Given the description of an element on the screen output the (x, y) to click on. 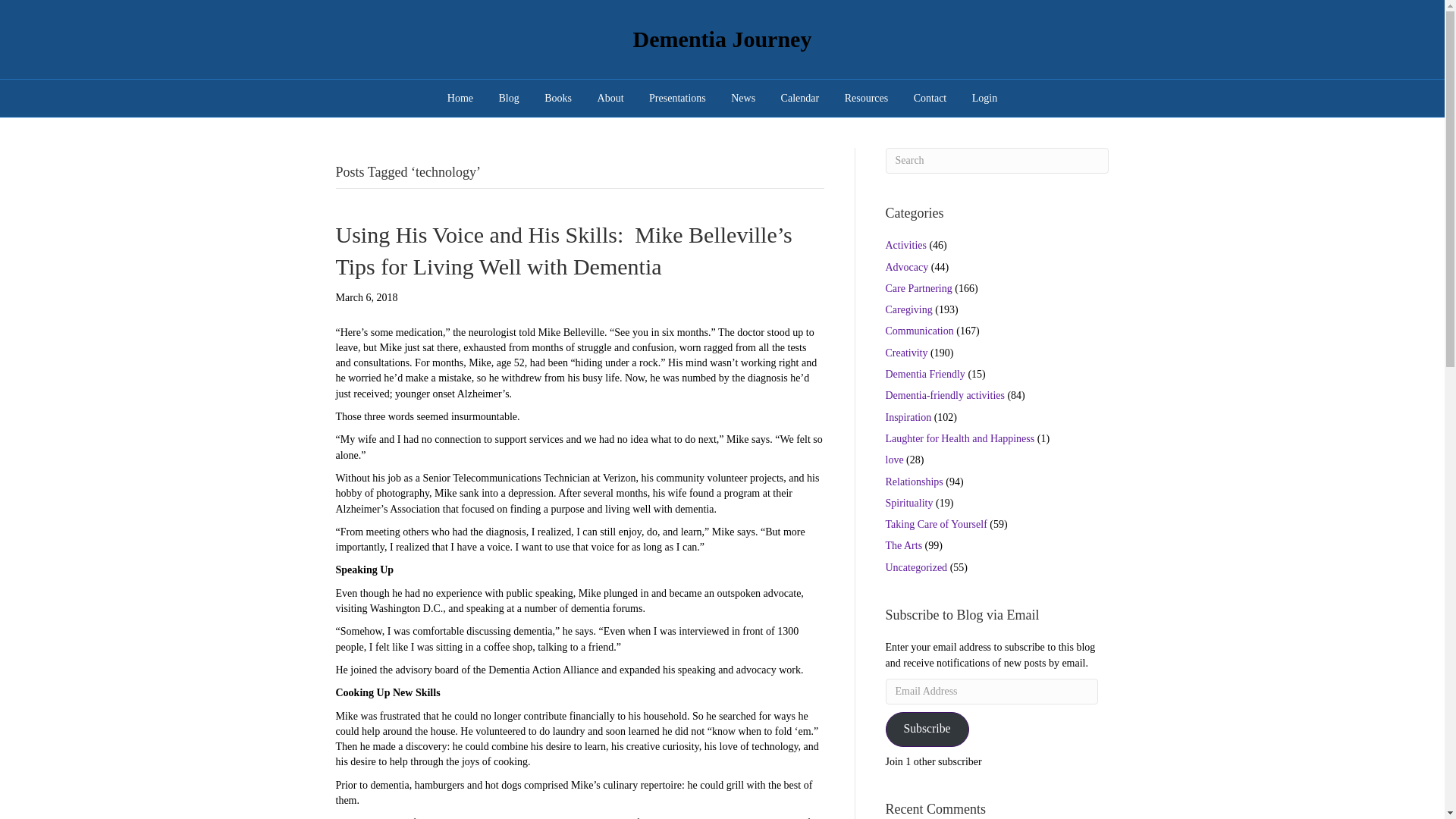
News (743, 97)
Calendar (800, 97)
Login (984, 97)
Dementia Journey (721, 39)
Home (459, 97)
Books (557, 97)
Contact (930, 97)
Resources (865, 97)
Blog (509, 97)
Type and press Enter to search. (997, 160)
